Given the description of an element on the screen output the (x, y) to click on. 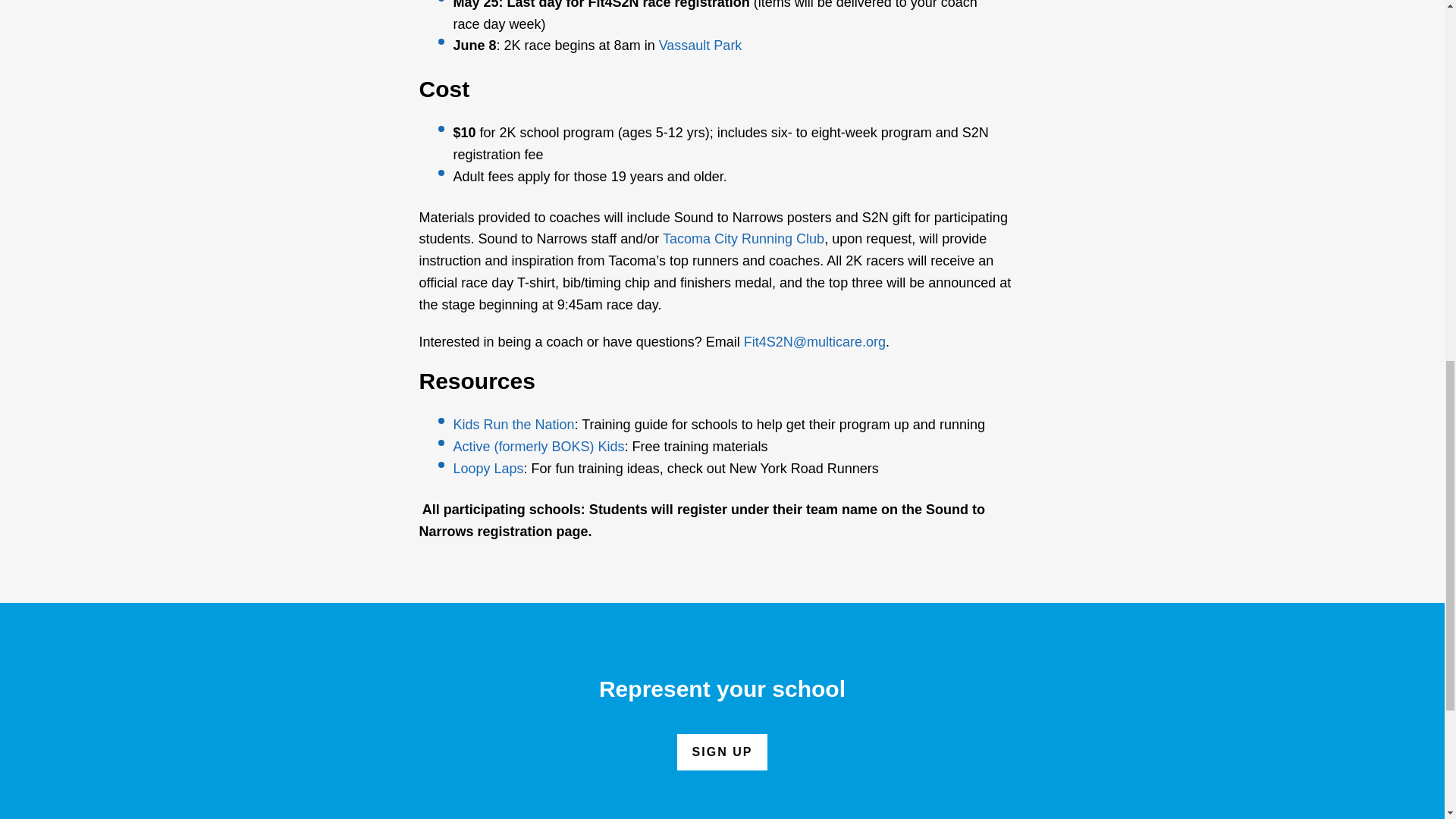
SIGN UP (722, 751)
Loopy Laps (488, 468)
Kids Run the Nation (513, 424)
Tacoma City Running Club (743, 238)
Vassault Park (700, 45)
